Given the description of an element on the screen output the (x, y) to click on. 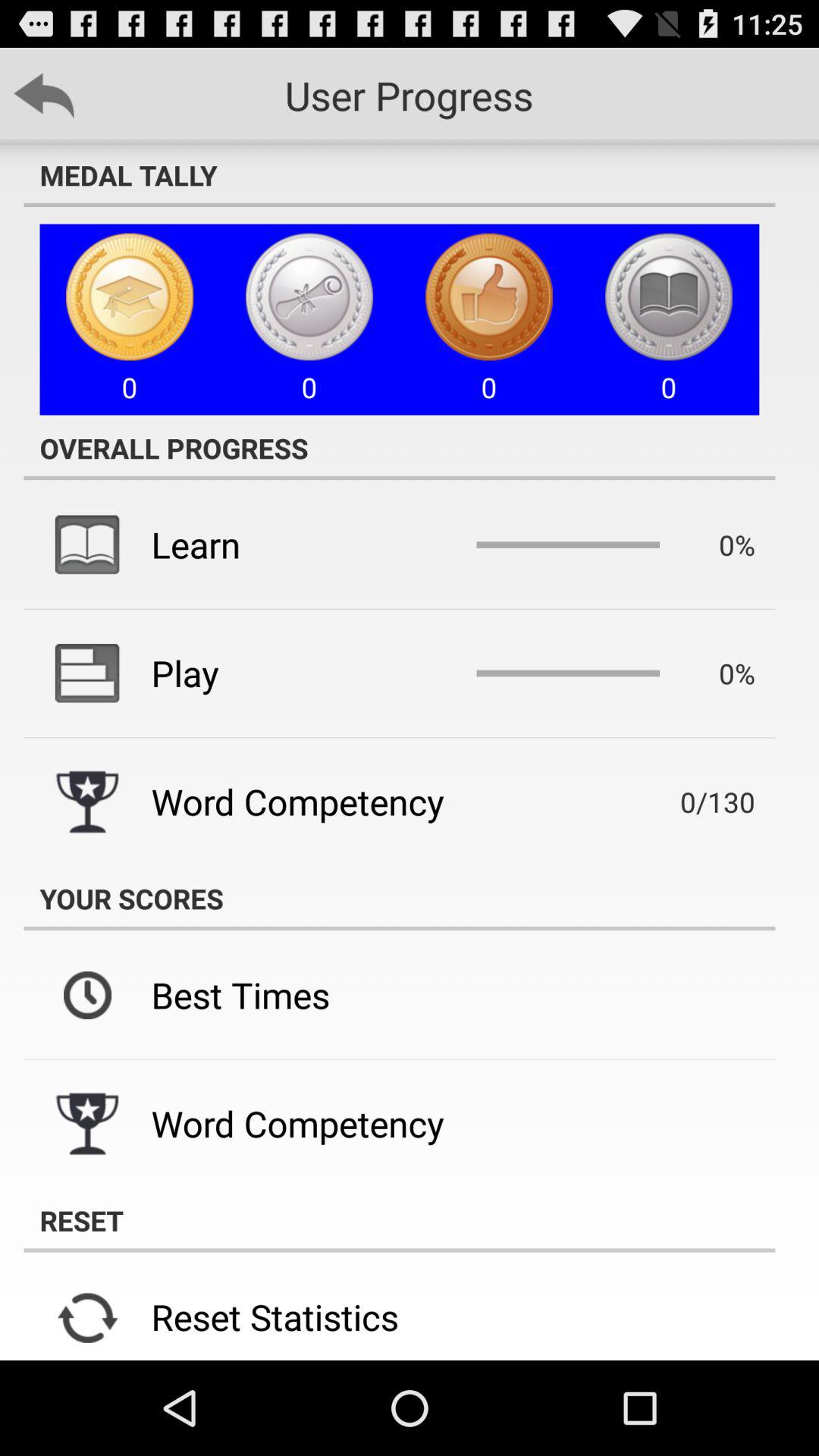
select icon above play icon (195, 544)
